Given the description of an element on the screen output the (x, y) to click on. 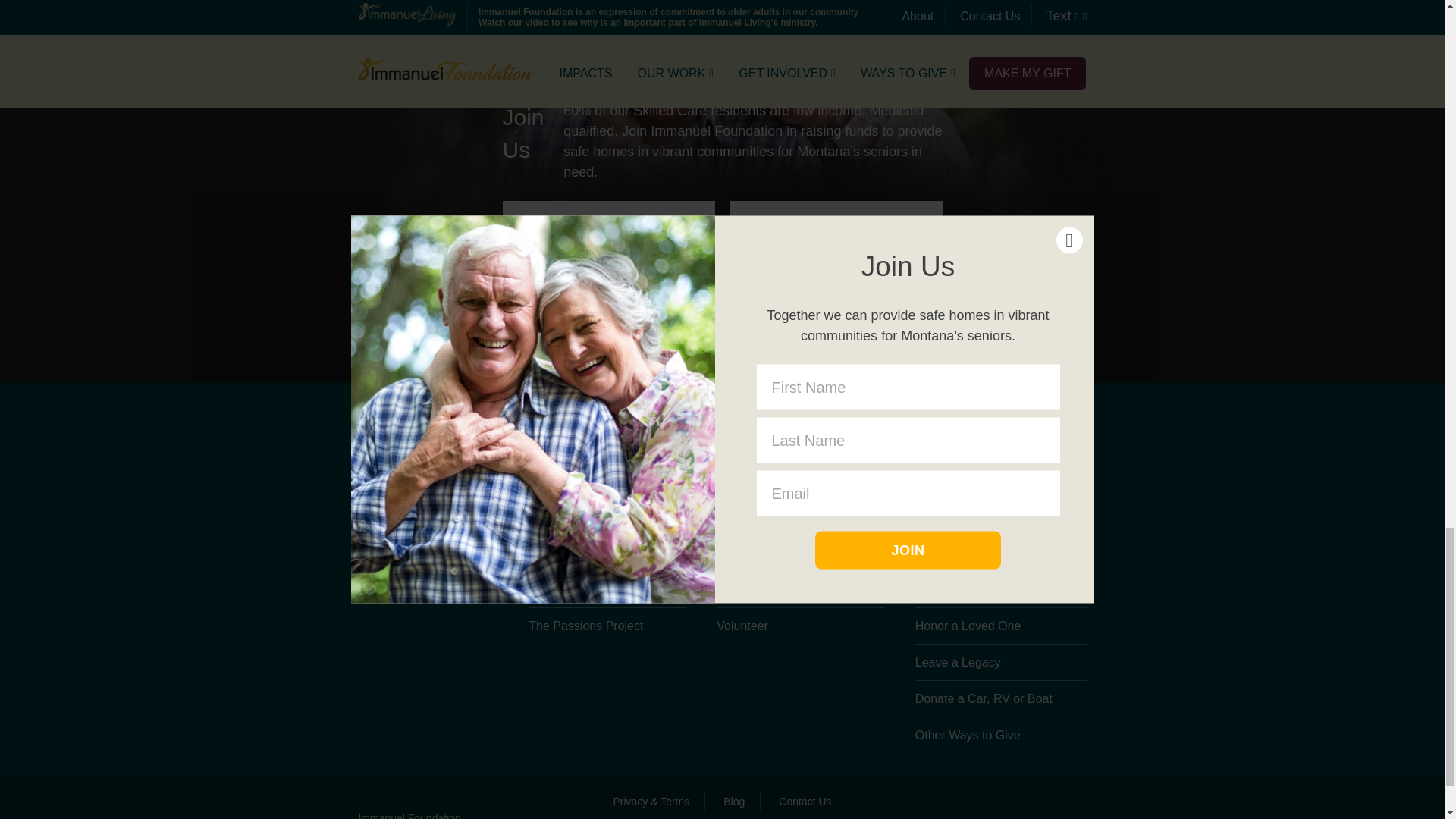
Other Ways to Give (1000, 734)
Join Partners in Caring (1000, 500)
Join (722, 341)
Volunteer (799, 625)
Donate a Car, RV or Boat (1000, 702)
Honor a Loved One (1000, 629)
